Given the description of an element on the screen output the (x, y) to click on. 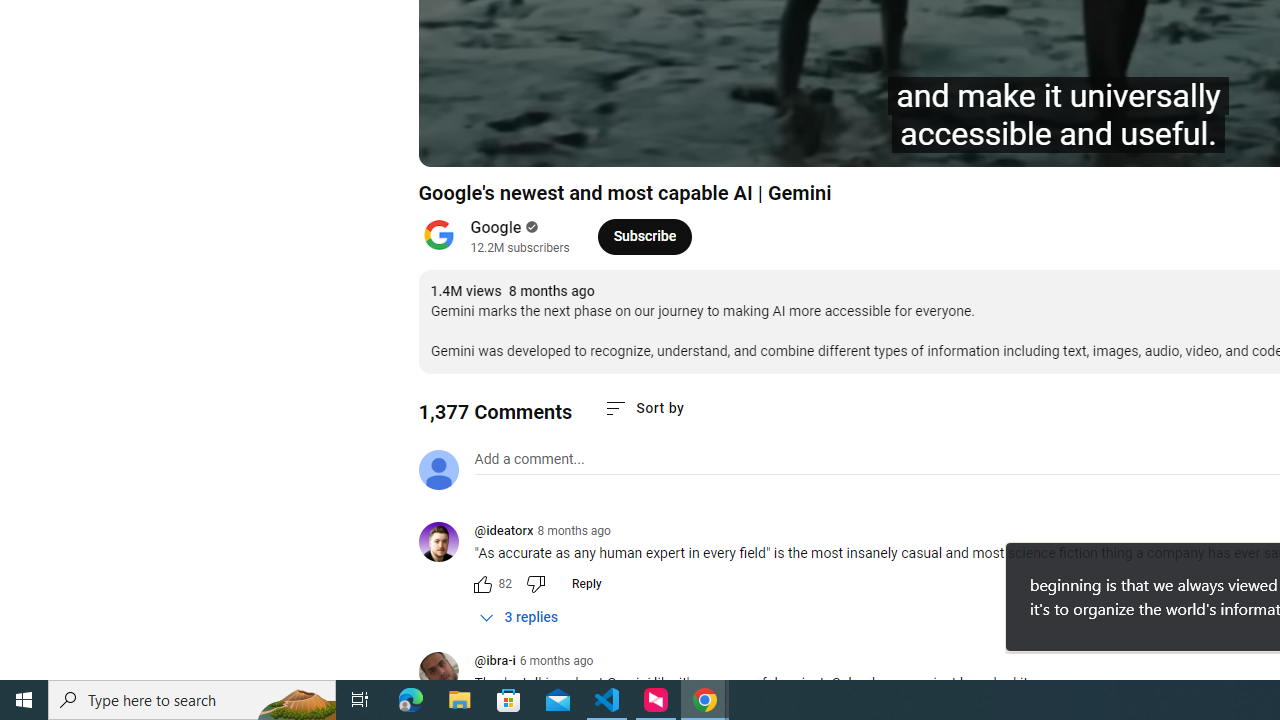
Reply (586, 583)
Play (k) (453, 142)
3 replies (518, 617)
@ideatorx (503, 532)
8 months ago (573, 531)
@ibra-i (446, 673)
Sort comments (644, 408)
@ibra-i (494, 661)
Verified (530, 227)
Like this comment along with 82 other people (482, 583)
@ideatorx (446, 543)
Default profile photo (438, 470)
Dislike this comment (534, 583)
